Given the description of an element on the screen output the (x, y) to click on. 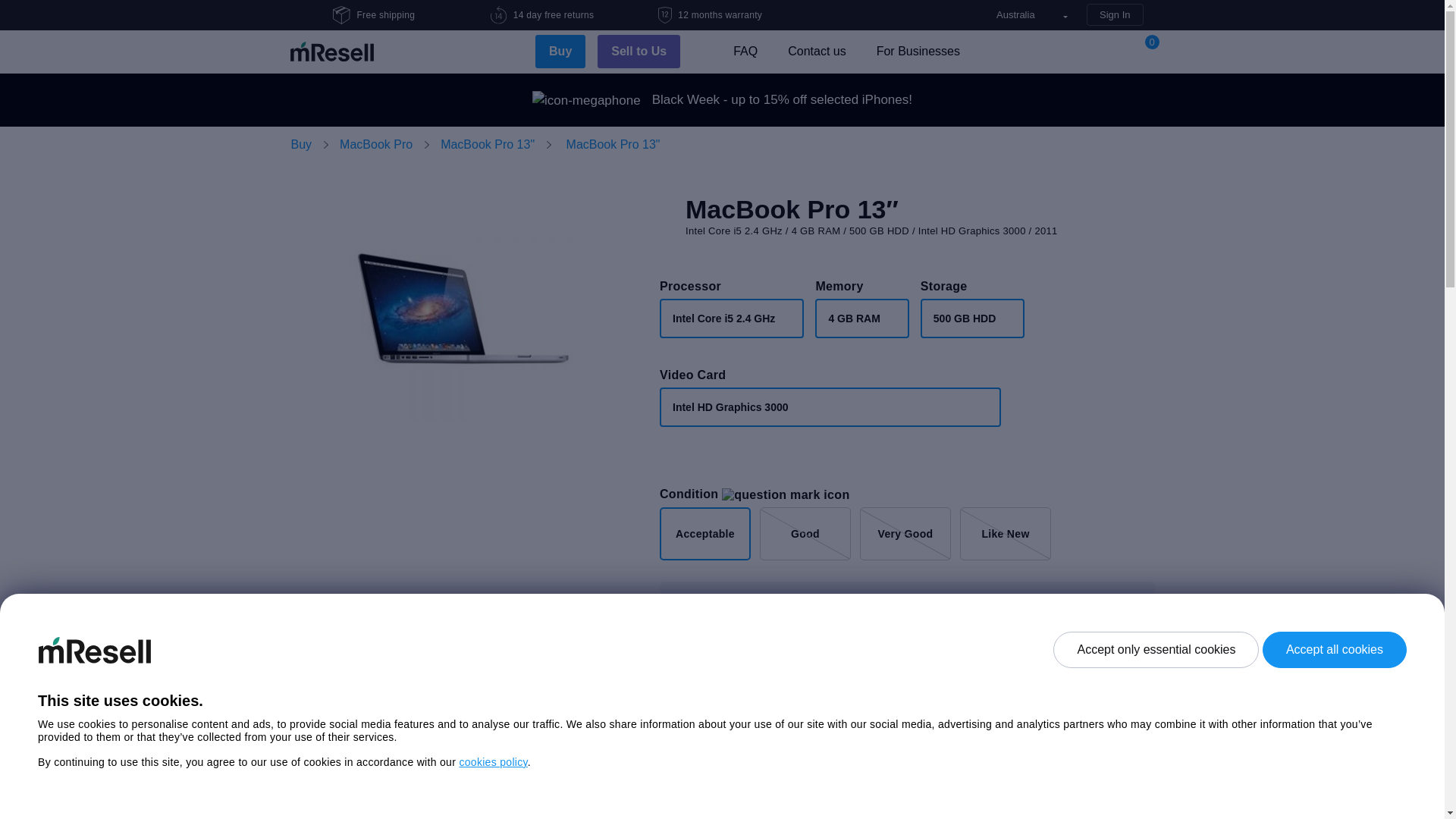
4 GB RAM Element type: text (861, 318)
Free shipping Element type: hover (341, 15)
MacBook Pro 13" Element type: text (613, 144)
Sell to Us Element type: text (638, 51)
Accept all cookies Element type: text (1334, 649)
12 months warranty Element type: hover (664, 14)
Intel Core i5 2.4 GHz Element type: text (731, 318)
0 Element type: text (1144, 51)
Australia Element type: text (1031, 14)
FAQ Element type: text (745, 50)
14 day free returns Element type: hover (498, 15)
Acceptable Element type: text (704, 533)
Buy Element type: text (301, 144)
Accept only essential cookies Element type: text (1155, 649)
500 GB HDD Element type: text (972, 318)
For Businesses Element type: text (918, 50)
Intel HD Graphics 3000 Element type: text (830, 406)
cookies policy Element type: text (492, 762)
MacBook Pro Element type: text (375, 144)
Contact us Element type: text (816, 50)
Sign In Element type: text (1114, 14)
Buy Element type: text (560, 51)
mResell Element type: hover (331, 51)
MacBook Pro 13" Element type: text (487, 144)
